Given the description of an element on the screen output the (x, y) to click on. 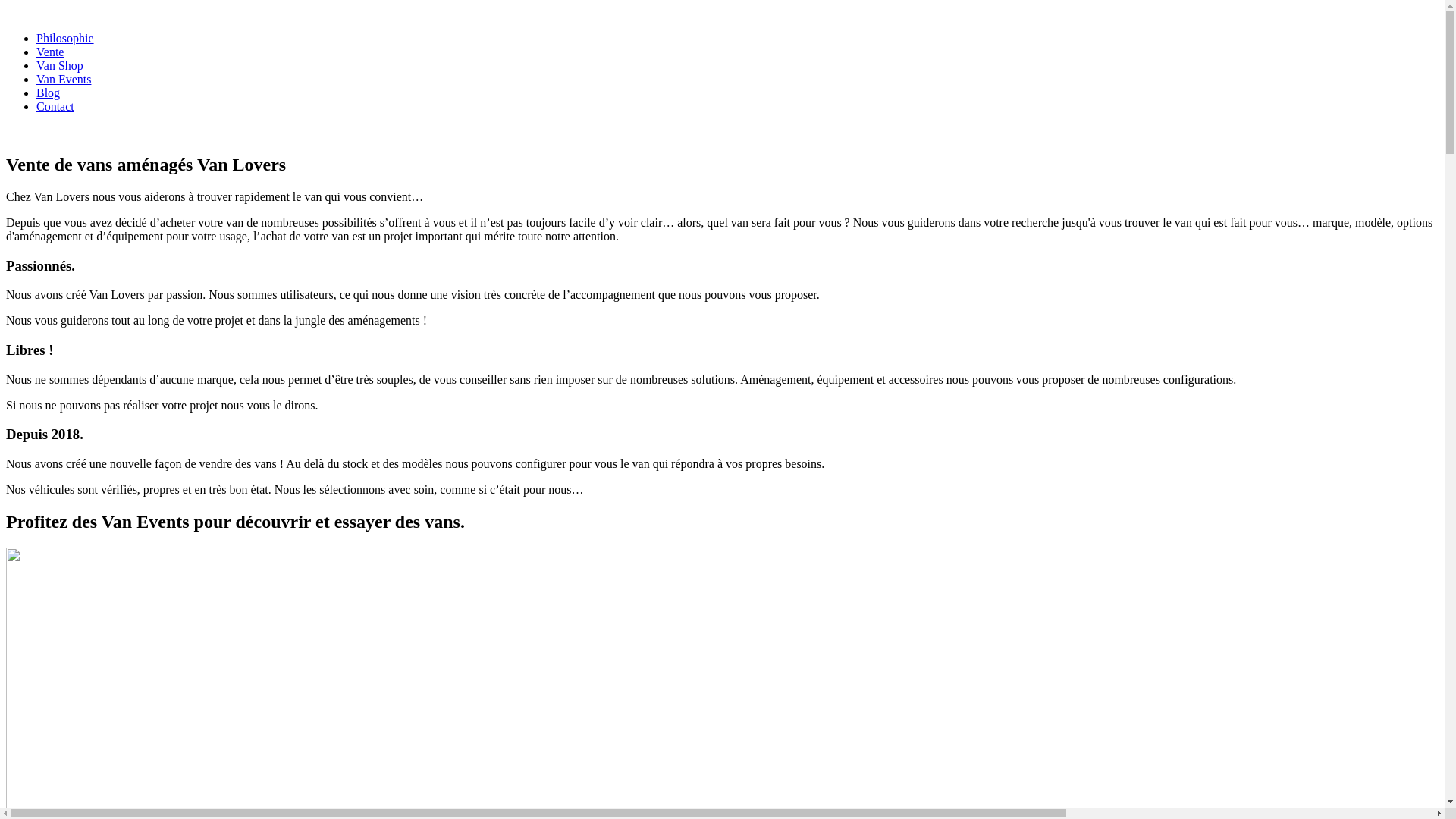
Philosophie Element type: text (65, 37)
Van Events Element type: text (63, 78)
Vente Element type: text (49, 51)
Contact Element type: text (55, 106)
Van Shop Element type: text (59, 65)
Blog Element type: text (47, 92)
